Given the description of an element on the screen output the (x, y) to click on. 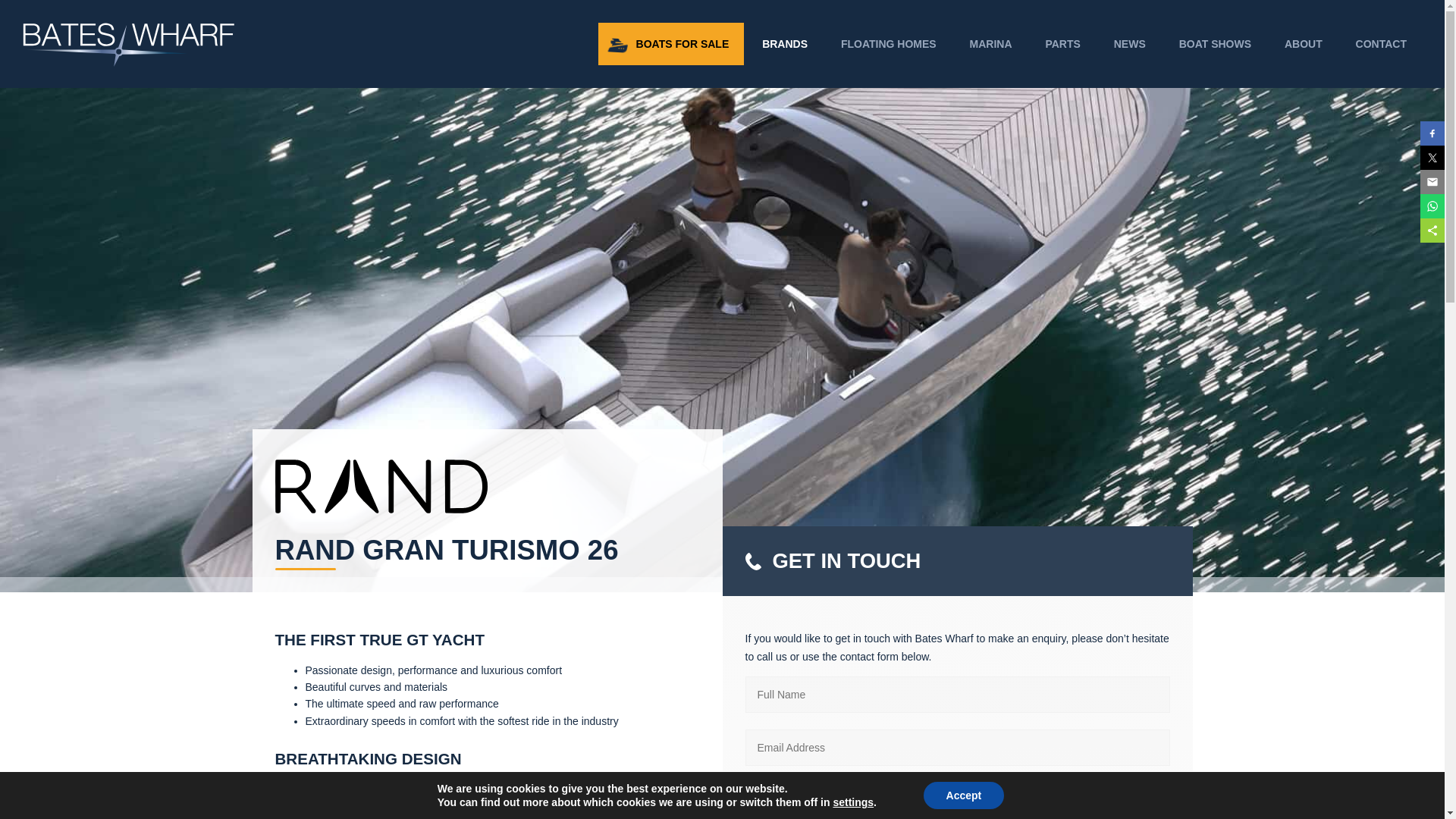
BRANDS (784, 43)
ABOUT (1303, 43)
RAND GRAN TURISMO 26 new boats for sale in the UK (380, 486)
BOAT SHOWS (1214, 43)
PARTS (1061, 43)
FLOATING HOMES (888, 43)
MARINA (991, 43)
NEWS (1129, 43)
Return to Bates Wharf, new and used boats for sale in the UK (128, 62)
BOATS FOR SALE (671, 43)
